Given the description of an element on the screen output the (x, y) to click on. 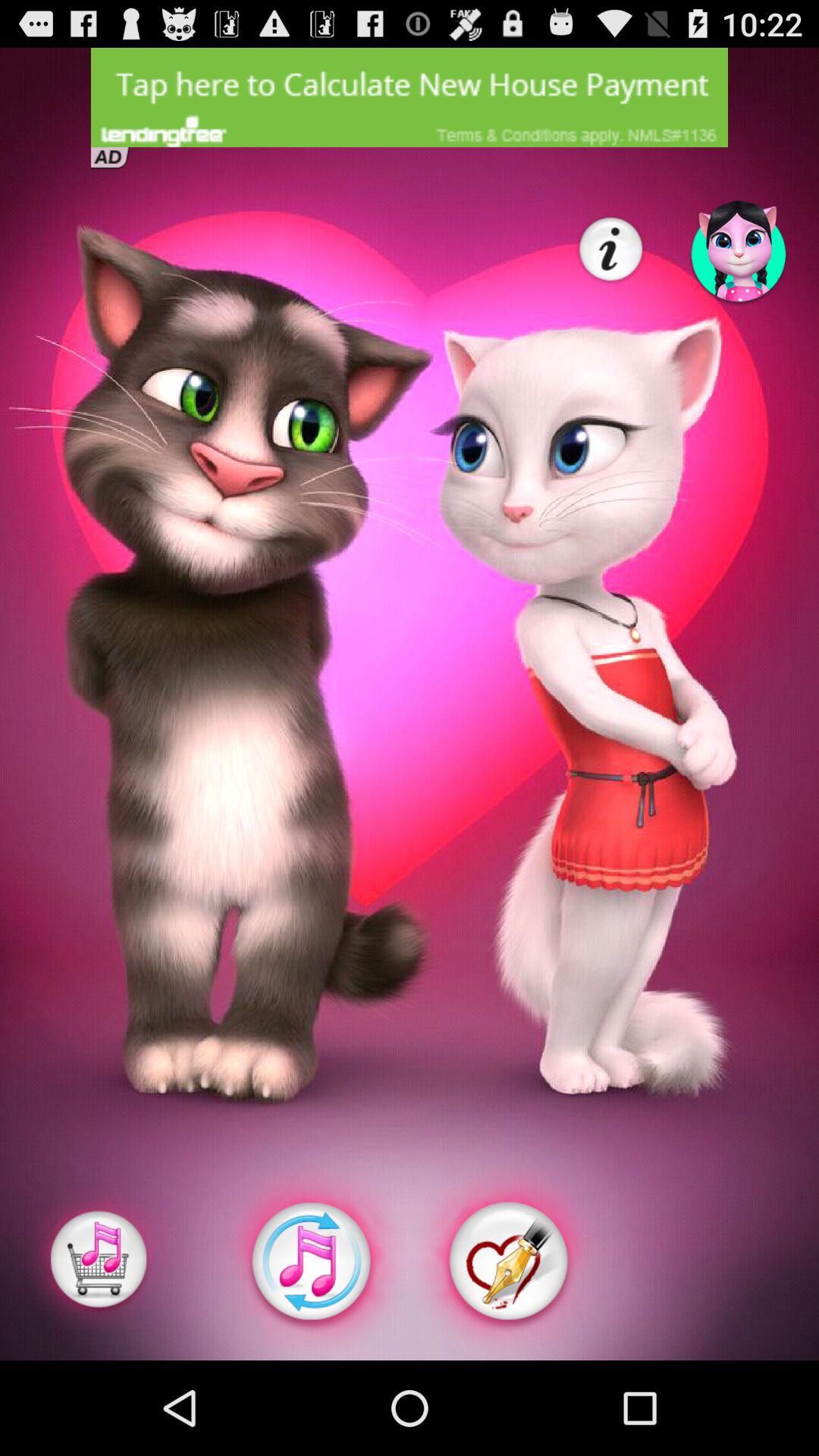
visit lending tree website (409, 97)
